Given the description of an element on the screen output the (x, y) to click on. 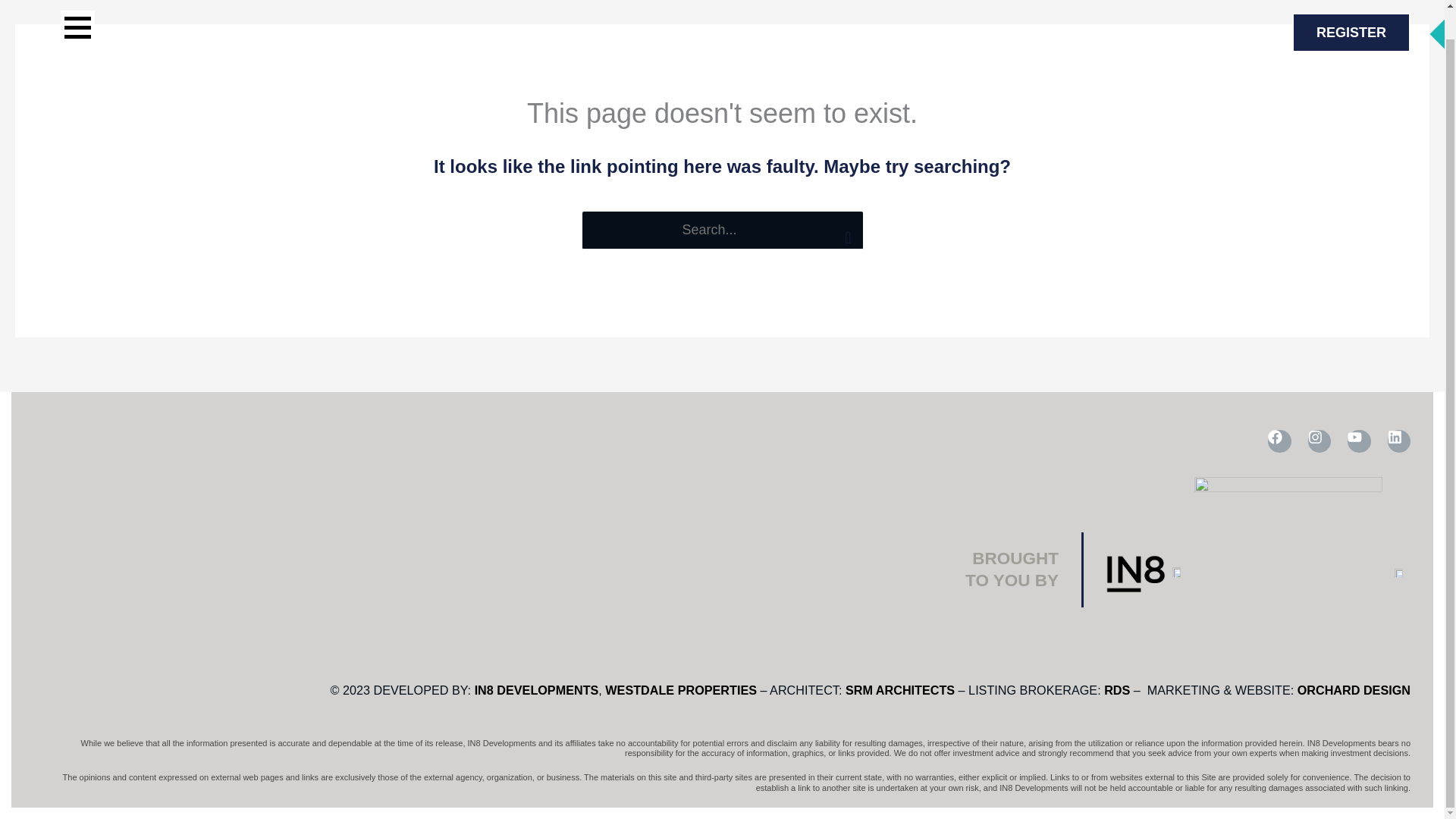
REGISTER (1351, 31)
416-800-3129 (1226, 31)
